Given the description of an element on the screen output the (x, y) to click on. 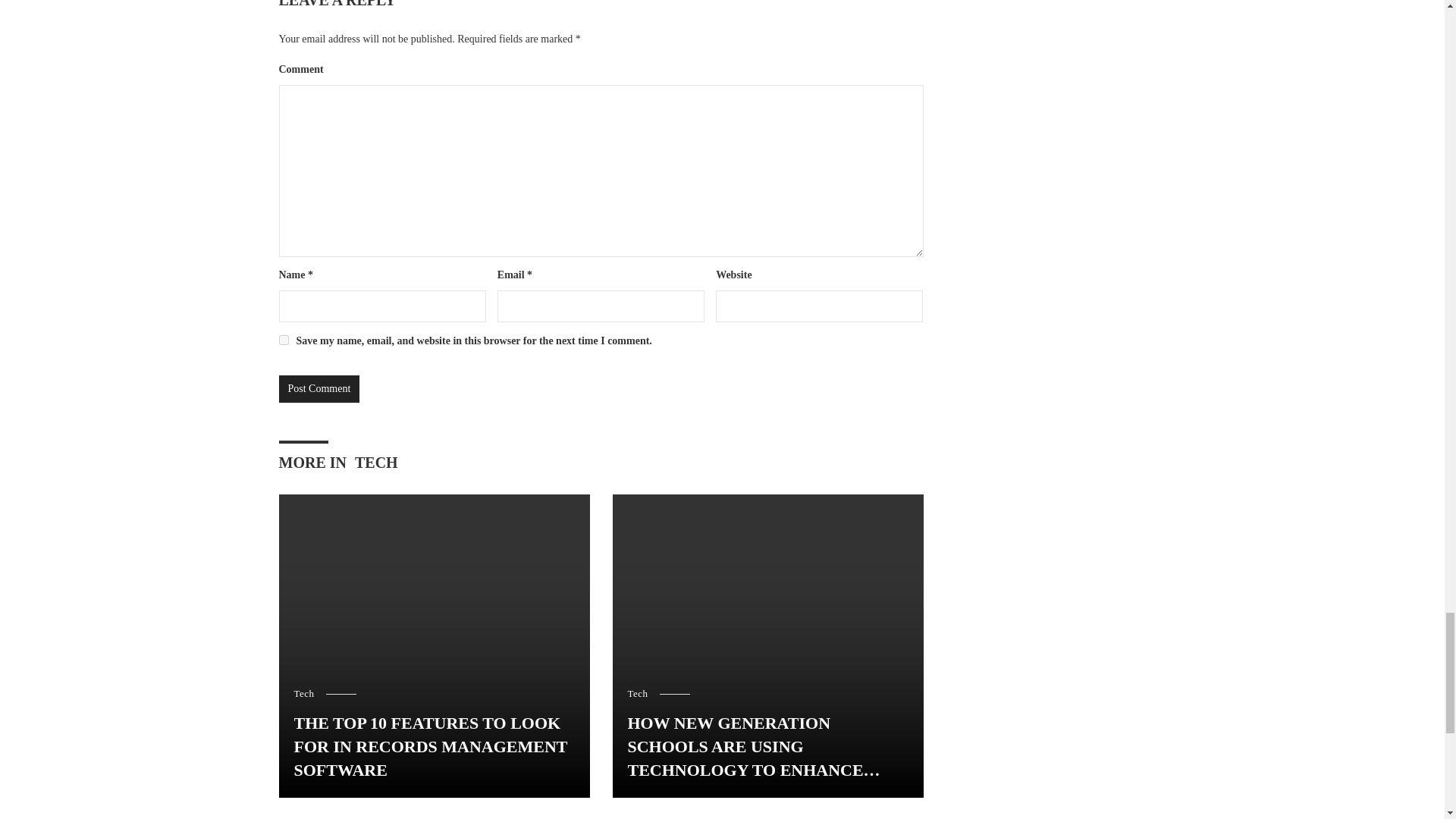
yes (283, 339)
Post Comment (319, 388)
